Given the description of an element on the screen output the (x, y) to click on. 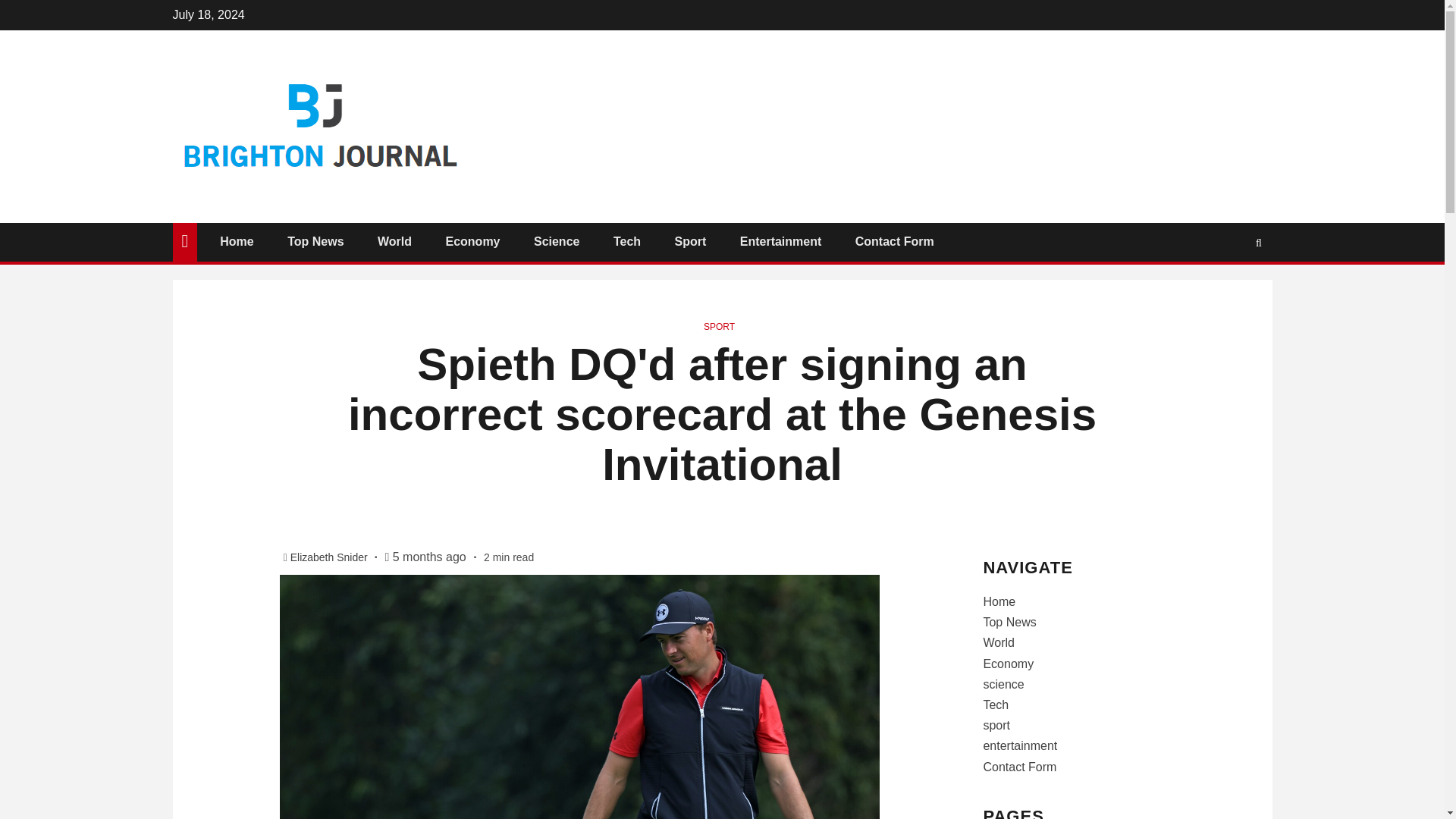
Home (236, 241)
Entertainment (780, 241)
Elizabeth Snider (330, 557)
Sport (690, 241)
SPORT (719, 326)
Tech (626, 241)
World (394, 241)
Contact Form (895, 241)
Top News (314, 241)
Home (998, 601)
Search (1229, 287)
Economy (472, 241)
Top News (1008, 621)
Science (556, 241)
